Given the description of an element on the screen output the (x, y) to click on. 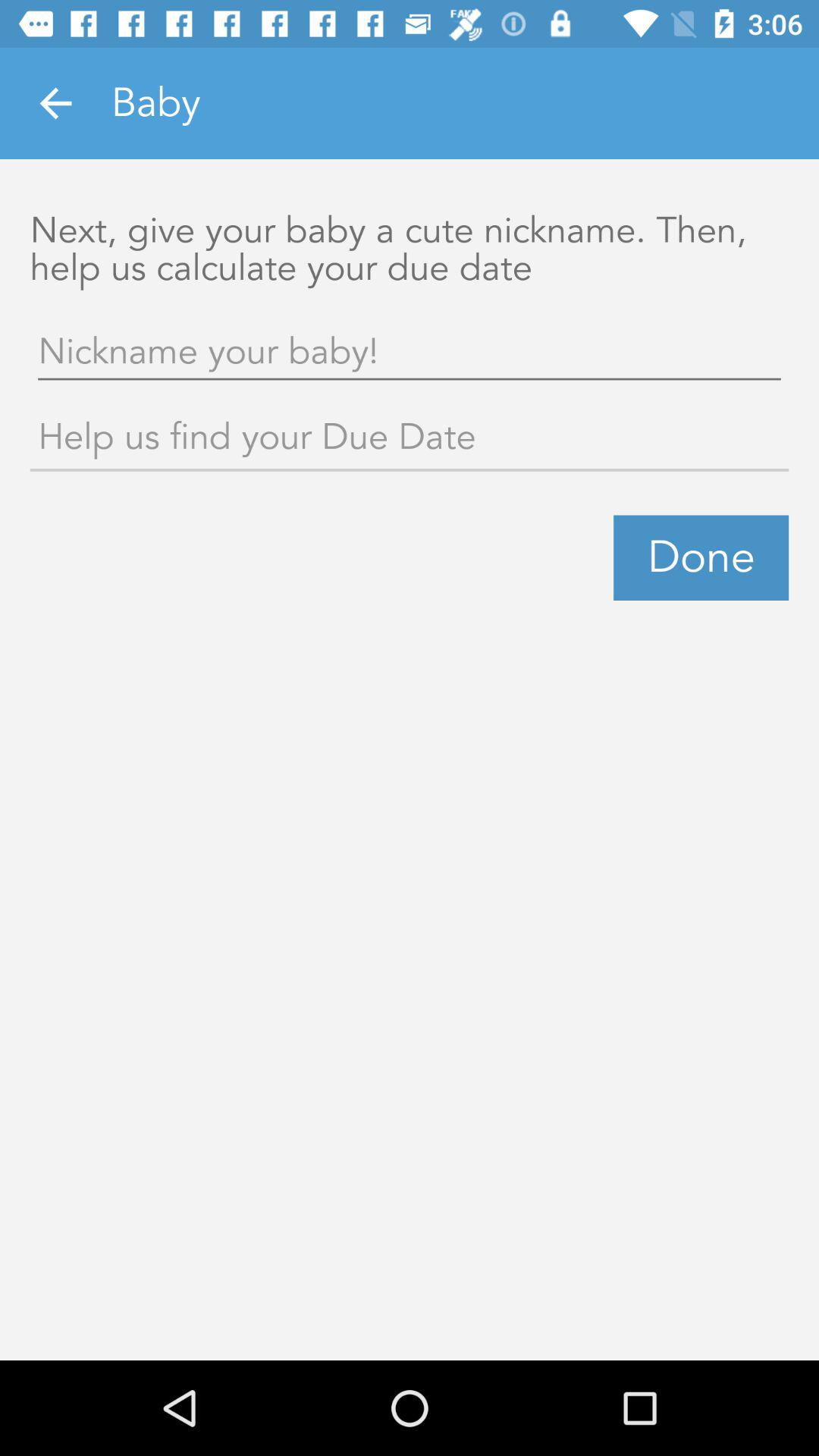
tap the item at the top left corner (55, 103)
